Given the description of an element on the screen output the (x, y) to click on. 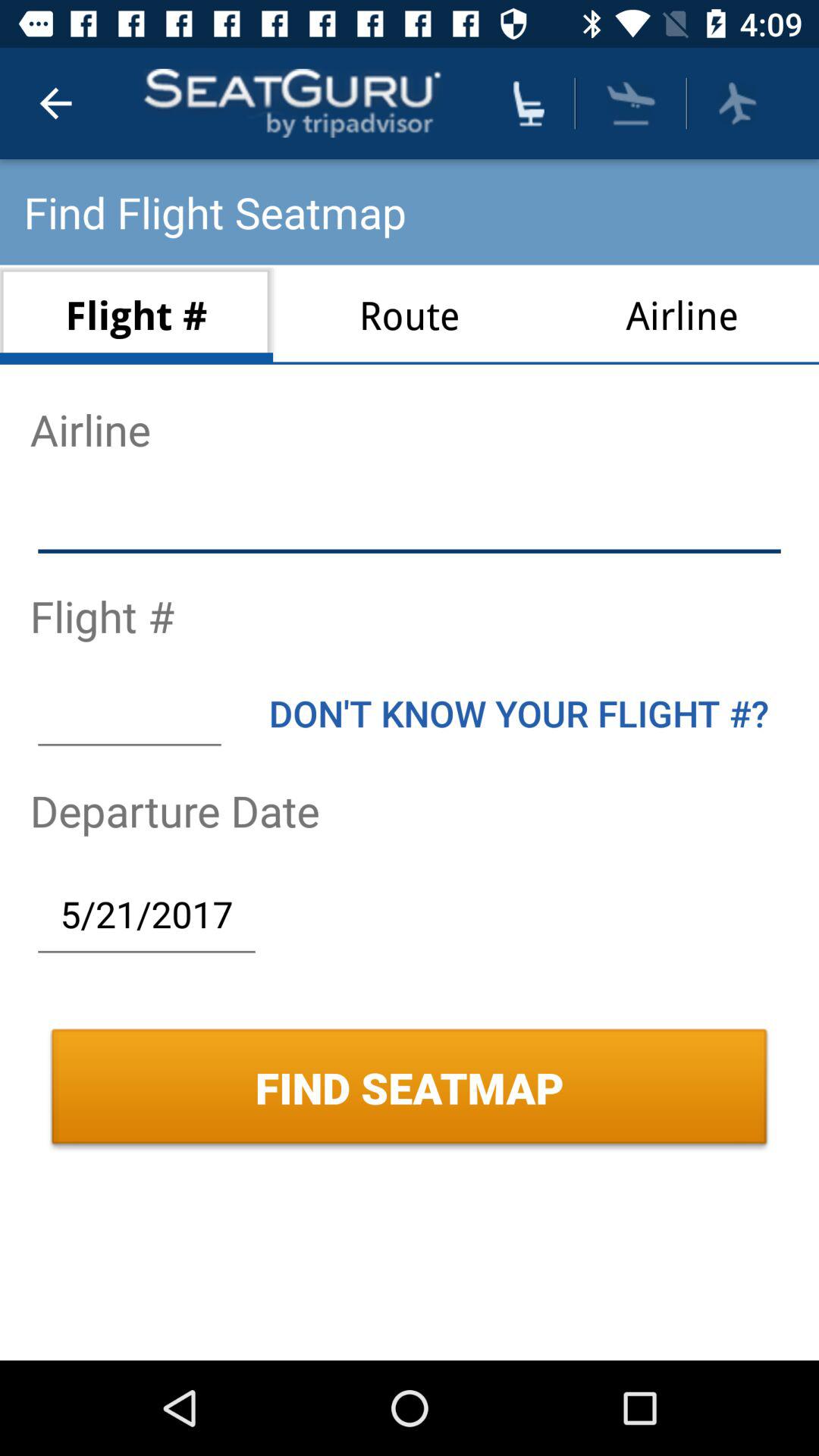
tap item next to the don t know icon (129, 712)
